Given the description of an element on the screen output the (x, y) to click on. 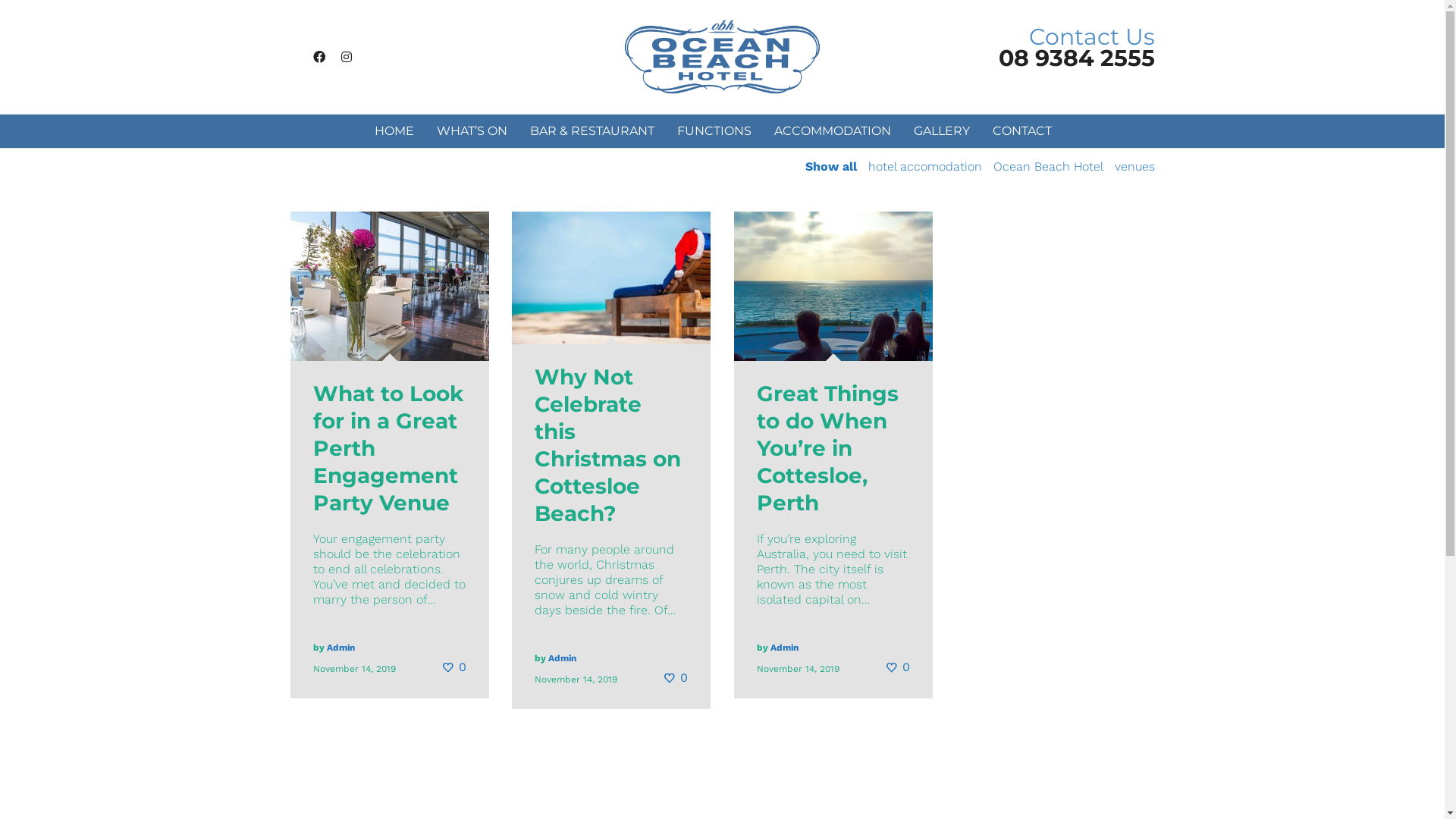
0 Element type: text (897, 666)
venues Element type: text (1134, 166)
FUNCTIONS Element type: text (713, 130)
Show all Element type: text (830, 166)
0 Element type: text (453, 666)
Ocean Beach Hotel Element type: text (1048, 166)
Admin Element type: text (561, 657)
ACCOMMODATION Element type: text (832, 130)
HOME Element type: text (394, 130)
GALLERY Element type: text (941, 130)
hotel accomodation Element type: text (924, 166)
Admin Element type: text (340, 647)
08 9384 2555 Element type: text (1075, 57)
BAR & RESTAURANT Element type: text (591, 130)
0 Element type: text (674, 677)
CONTACT Element type: text (1022, 130)
Admin Element type: text (784, 647)
